Given the description of an element on the screen output the (x, y) to click on. 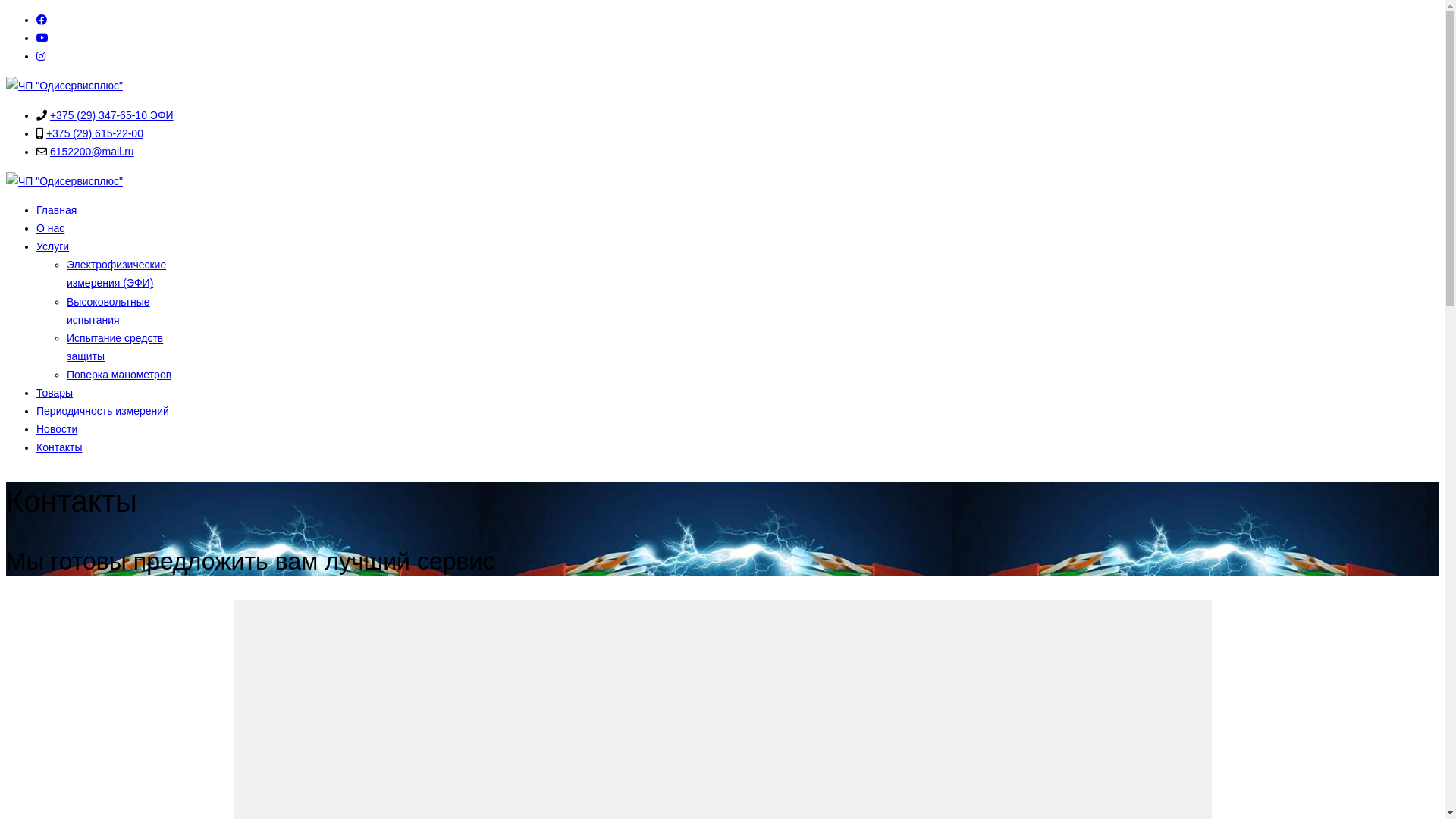
+375 (29) 615-22-00 Element type: text (94, 133)
6152200@mail.ru Element type: text (92, 151)
